Given the description of an element on the screen output the (x, y) to click on. 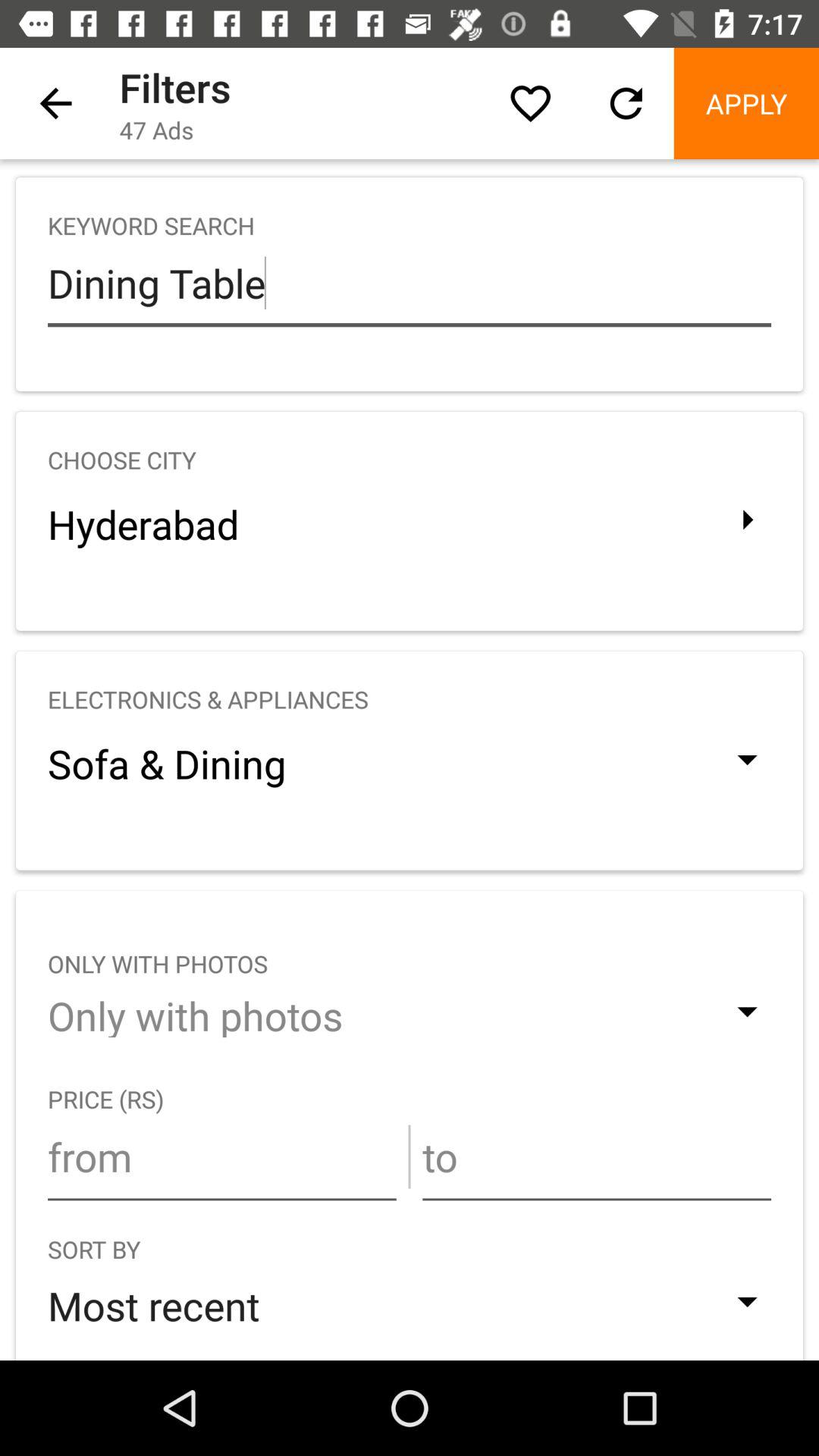
swipe to apply icon (746, 103)
